Given the description of an element on the screen output the (x, y) to click on. 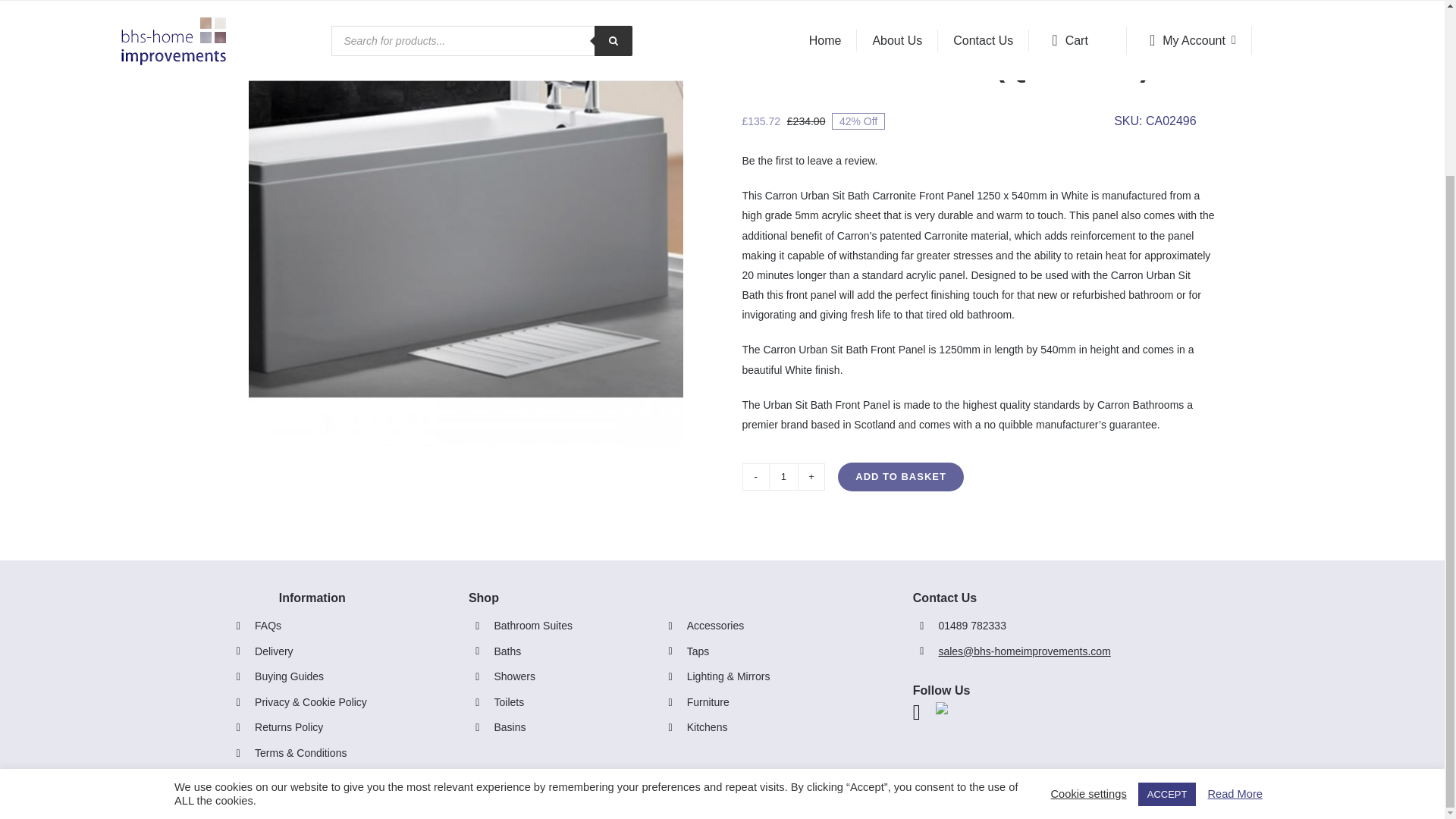
- (756, 476)
1 (783, 476)
